Given the description of an element on the screen output the (x, y) to click on. 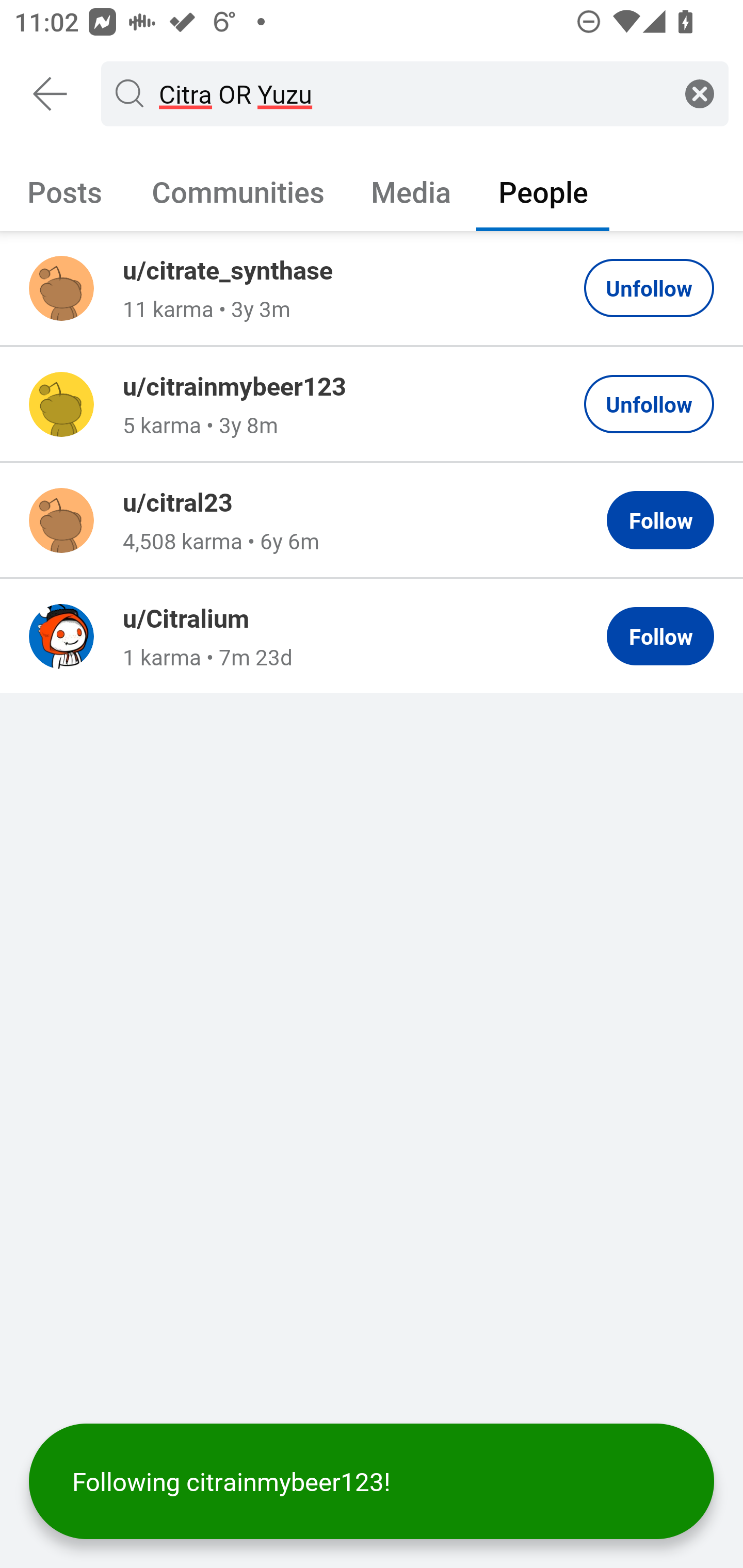
Back (50, 93)
Citra OR Yuzu (410, 93)
Clear search (699, 93)
Posts (65, 191)
Communities (238, 191)
Media (411, 191)
Follow (660, 520)
Follow (660, 636)
